Given the description of an element on the screen output the (x, y) to click on. 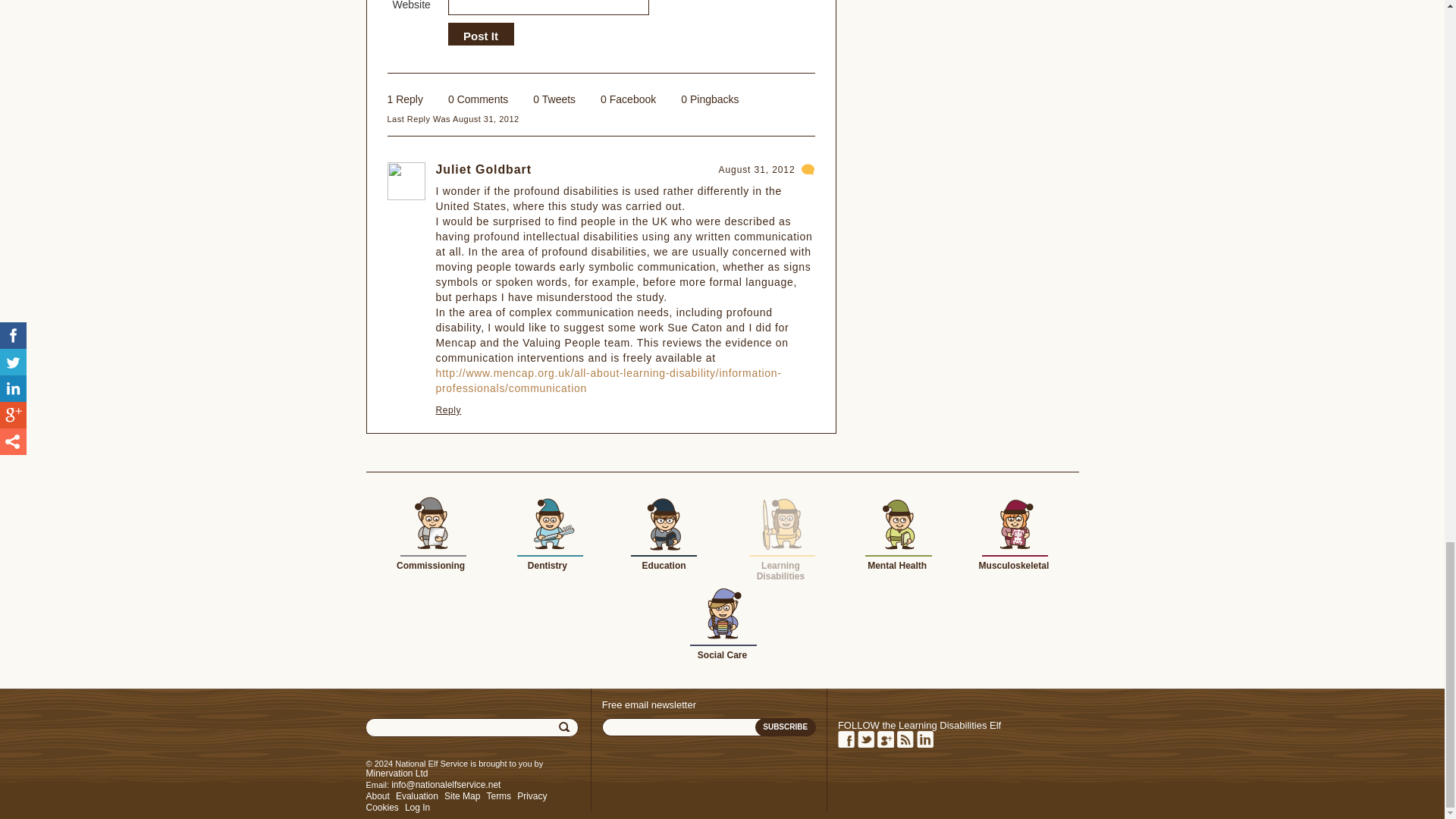
Post It (479, 35)
Search (565, 727)
Subscribe (785, 727)
